Given the description of an element on the screen output the (x, y) to click on. 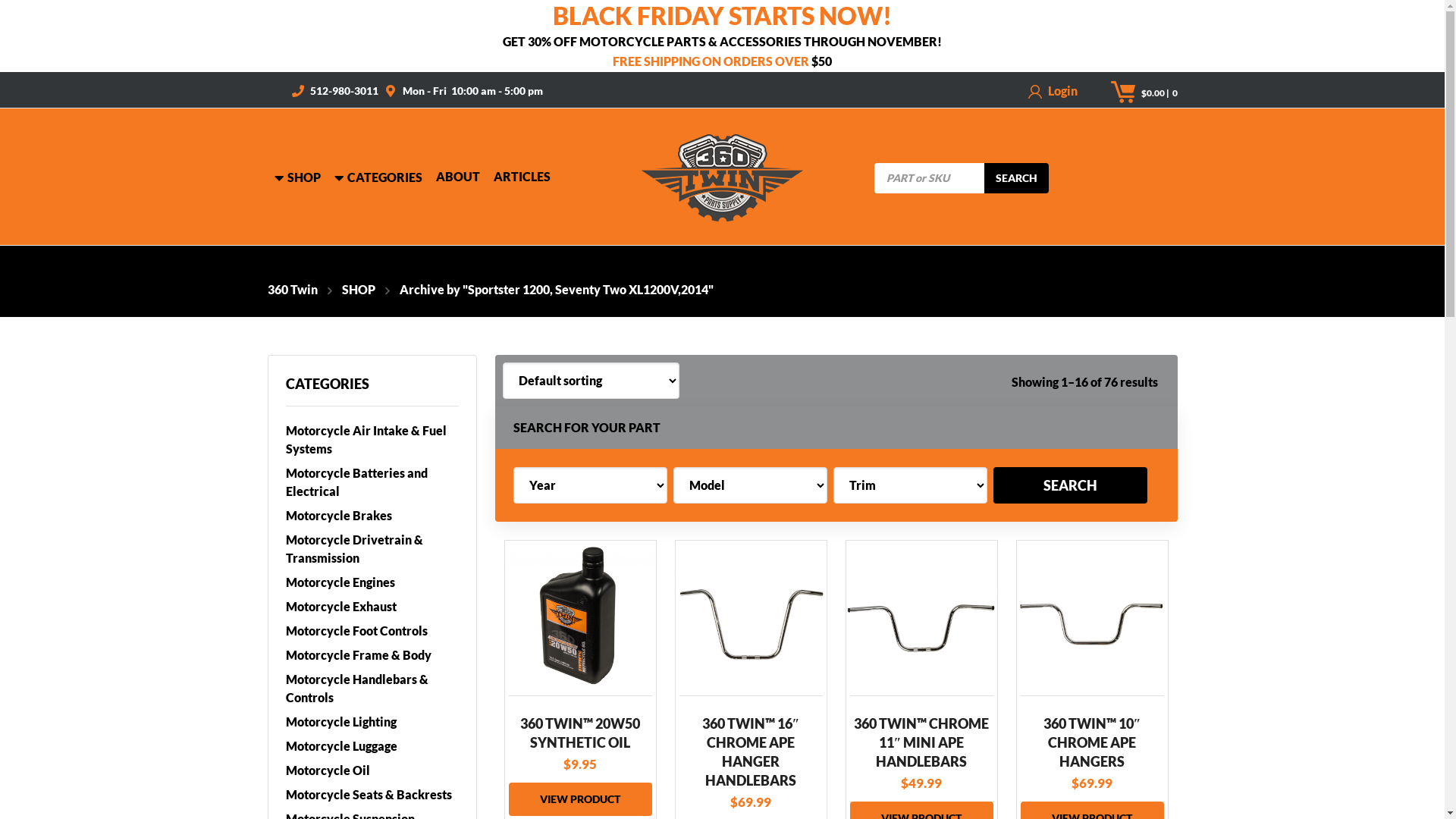
Motorcycle Luggage Element type: text (371, 746)
$0.00 0 Element type: text (1158, 93)
SEARCH Element type: text (1016, 178)
CATEGORIES Element type: text (377, 176)
Motorcycle Air Intake & Fuel Systems Element type: text (371, 439)
Motorcycle Oil Element type: text (371, 770)
VIEW PRODUCT Element type: text (579, 798)
ABOUT Element type: text (457, 176)
Motorcycle Exhaust Element type: text (371, 606)
Search Element type: text (1070, 485)
512-980-3011 Element type: text (343, 89)
ARTICLES Element type: text (520, 176)
Motorcycle Engines Element type: text (371, 582)
Motorcycle Lighting Element type: text (371, 721)
Motorcycle Frame & Body Element type: text (371, 655)
Motorcycle Seats & Backrests Element type: text (371, 794)
FREE SHIPPING ON ORDERS OVER $50 Element type: text (721, 57)
GET 30% OFF MOTORCYCLE PARTS & ACCESSORIES THROUGH NOVEMBER! Element type: text (721, 37)
Motorcycle Foot Controls Element type: text (371, 630)
360 Twin Element type: text (291, 289)
Motorcycle Handlebars & Controls Element type: text (371, 688)
Motorcycle Batteries and Electrical Element type: text (371, 482)
Motorcycle Drivetrain & Transmission Element type: text (371, 548)
Motorcycle Brakes Element type: text (371, 515)
SHOP Element type: text (345, 289)
SHOP Element type: text (297, 176)
